Given the description of an element on the screen output the (x, y) to click on. 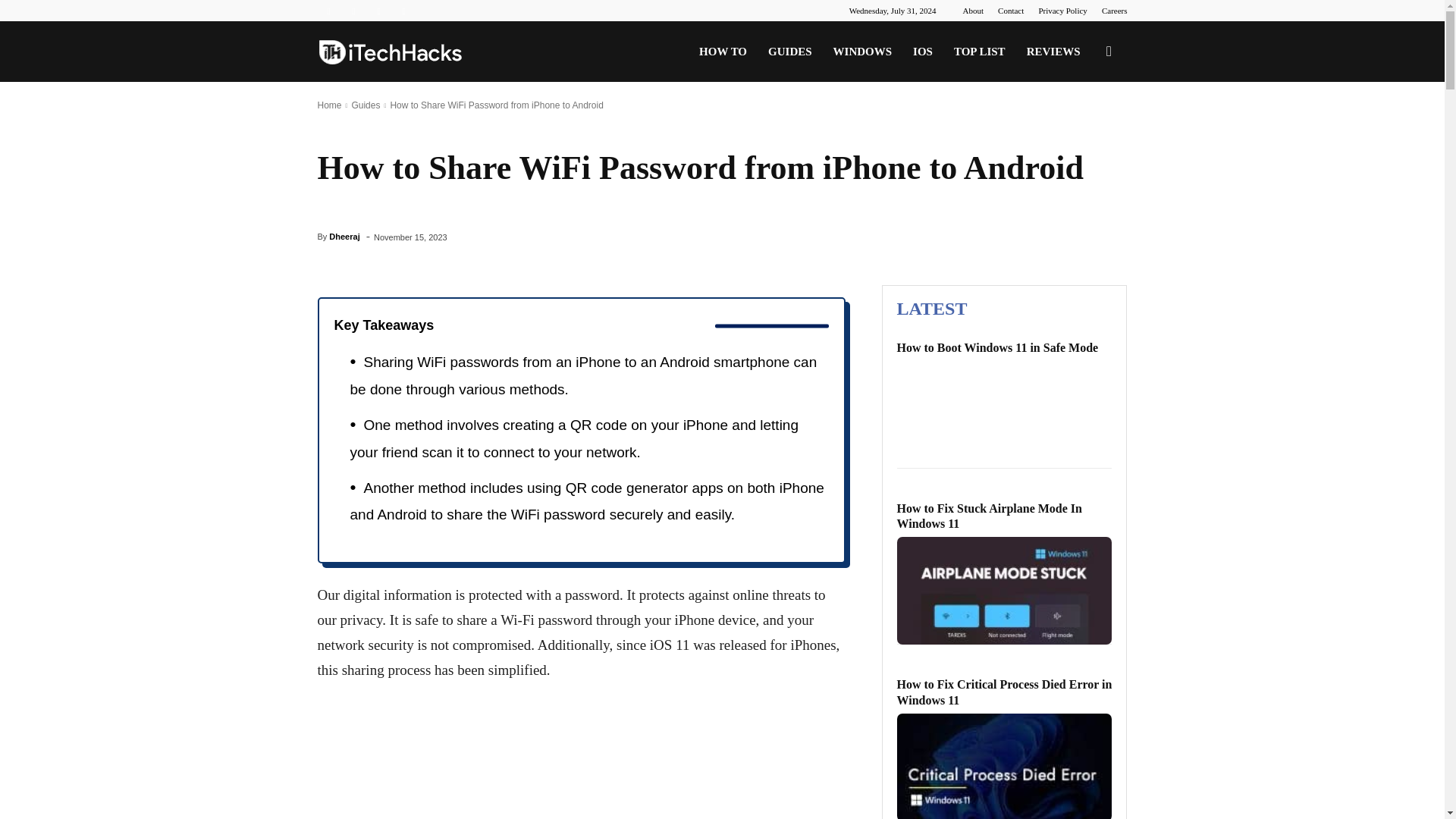
Dheeraj (344, 236)
Facebook (328, 10)
iTech Hacks (390, 51)
GUIDES (789, 51)
Youtube (403, 10)
Careers (1114, 10)
REVIEWS (1053, 51)
TOP LIST (979, 51)
View all posts in Guides (365, 104)
Search (1085, 124)
Guides (365, 104)
Privacy Policy (1062, 10)
Home (328, 104)
Twitter (379, 10)
HOW TO (722, 51)
